Given the description of an element on the screen output the (x, y) to click on. 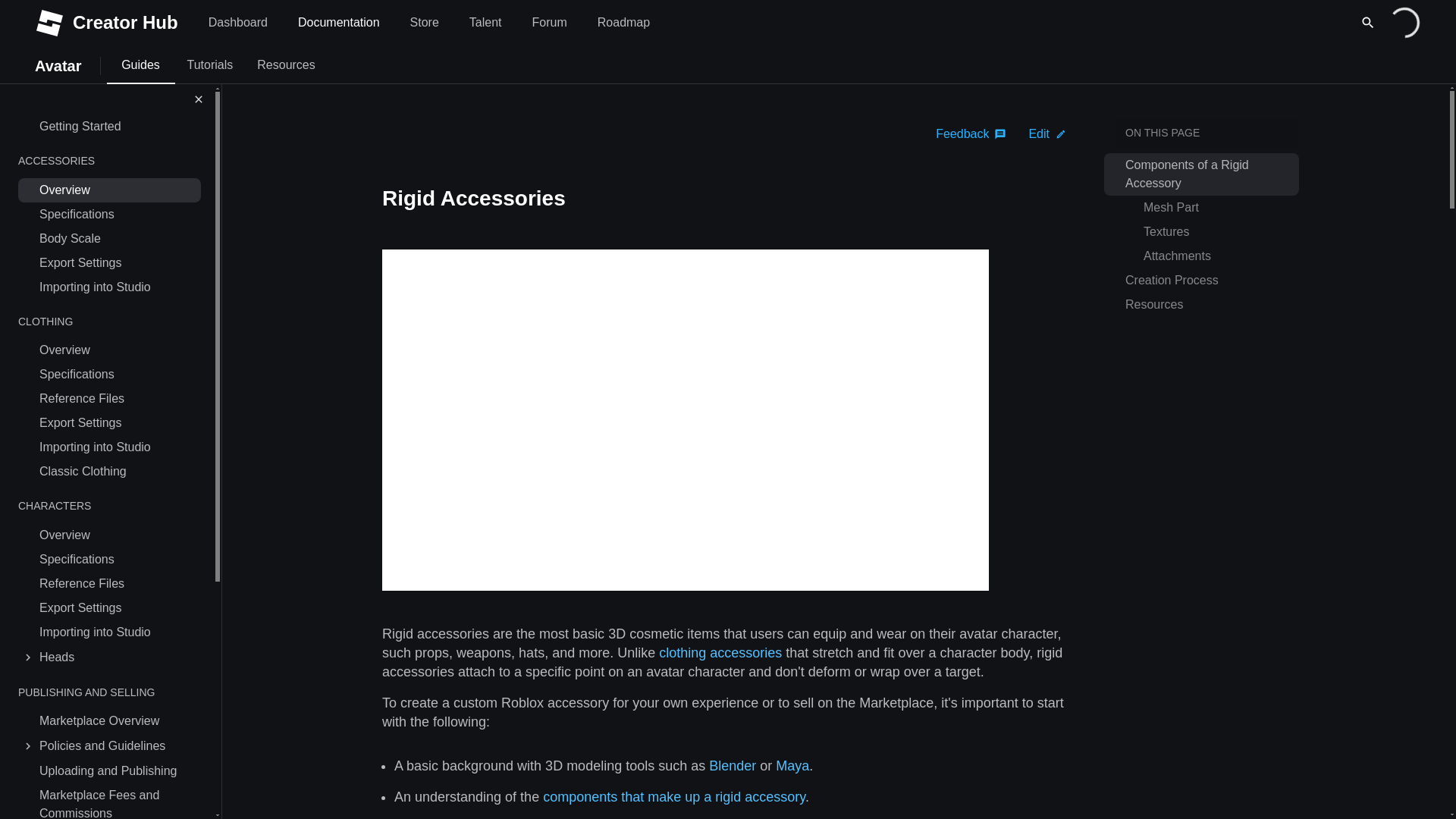
Store (424, 22)
Talent (485, 22)
Export Settings (118, 262)
Reference Files (118, 398)
Marketplace Overview (118, 721)
Reference Files (118, 583)
Export Settings (118, 422)
Specifications (118, 374)
Resources (285, 64)
Dashboard (237, 22)
